Given the description of an element on the screen output the (x, y) to click on. 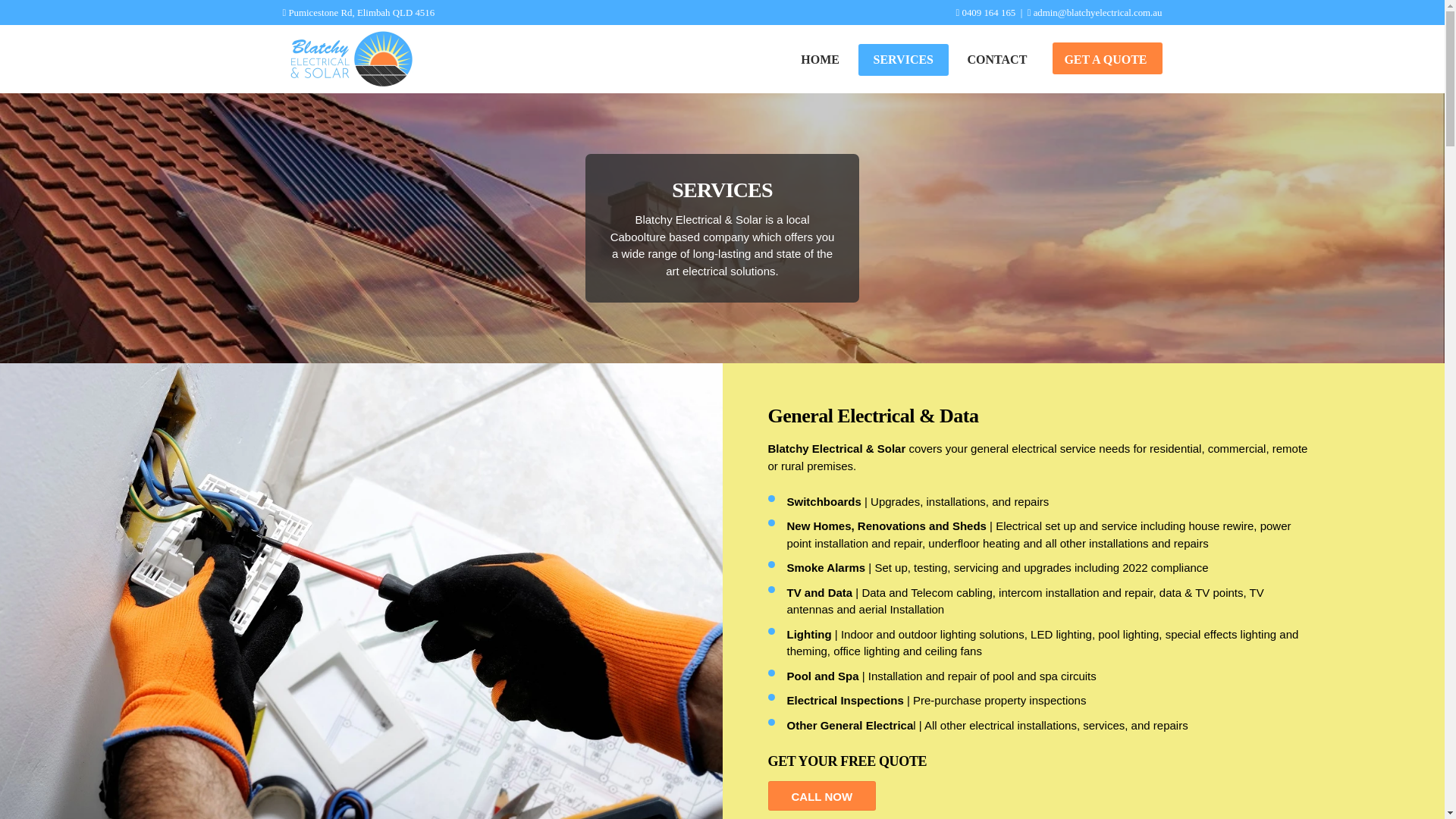
0409 164 165 (987, 12)
HOME (820, 60)
SERVICES (904, 60)
CALL NOW (821, 795)
GET A QUOTE (1106, 58)
CONTACT (787, 59)
